Given the description of an element on the screen output the (x, y) to click on. 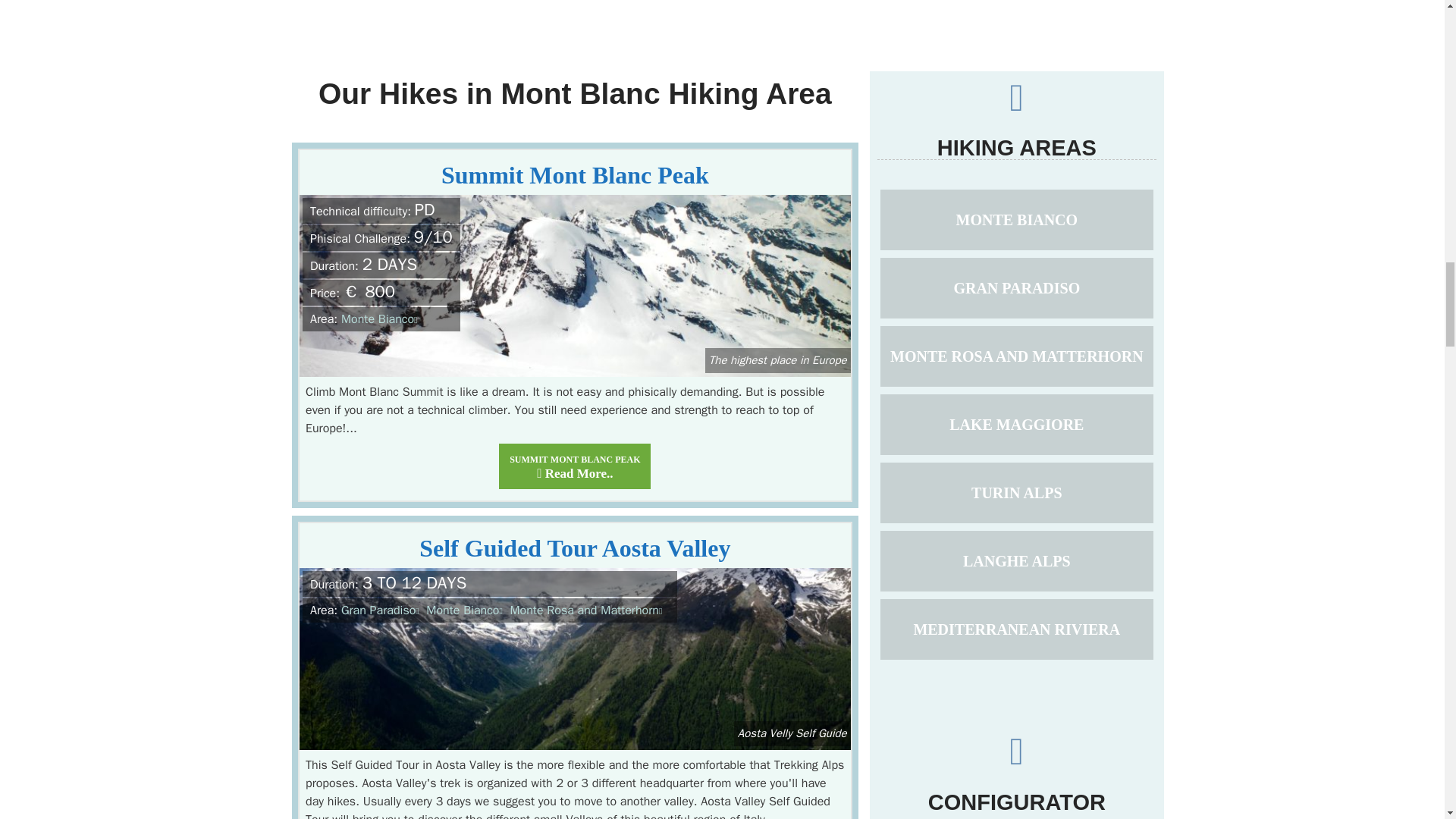
Browse all Hikes in the Area: Gran Paradiso (381, 610)
Browse all Hikes in the Area: Monte Bianco (465, 610)
Browse all Hikes in the Area: Monte Bianco (380, 319)
Browse all Hikes in the Area: Monte Rosa and Matterhorn (587, 610)
